Given the description of an element on the screen output the (x, y) to click on. 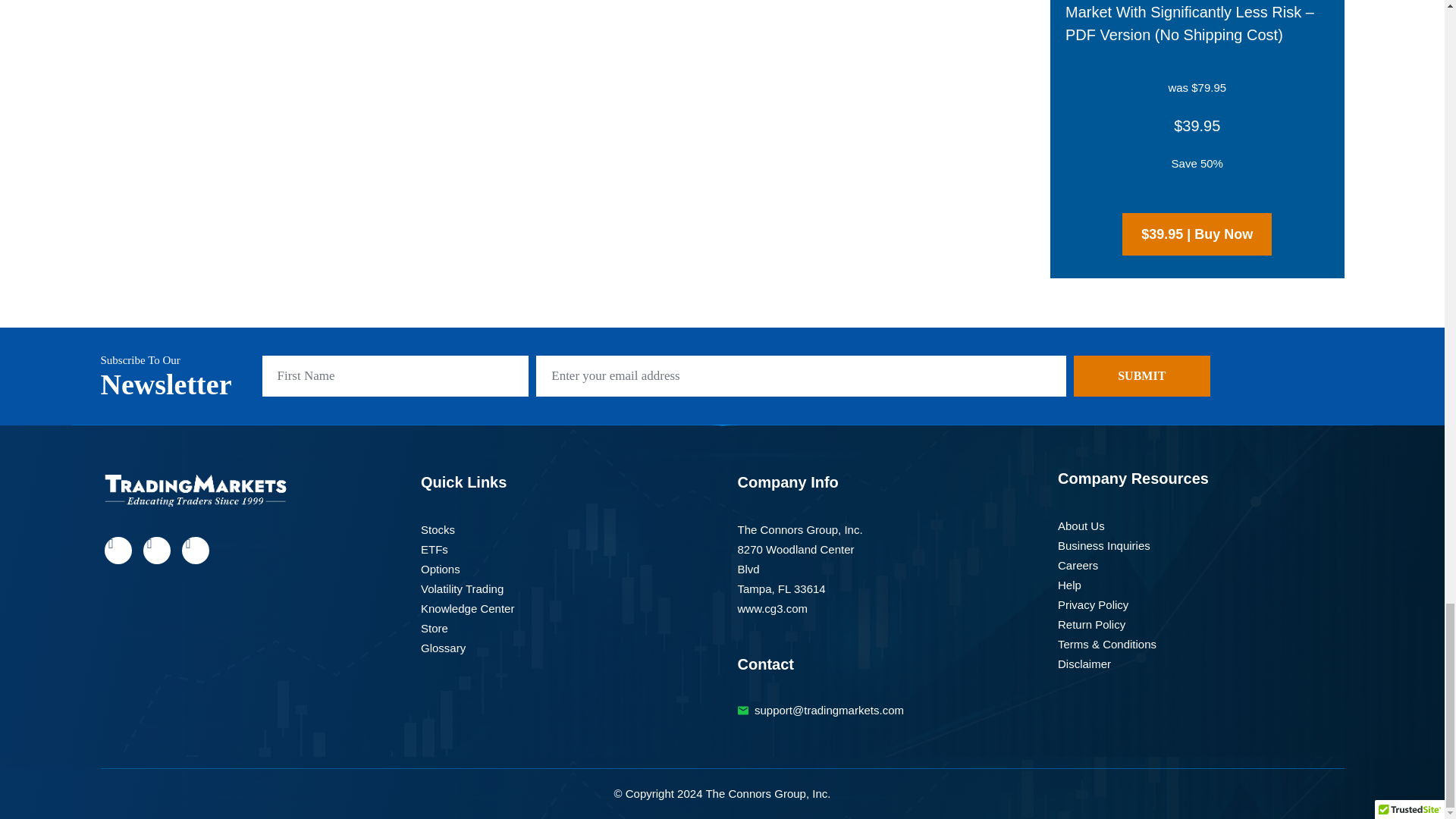
SUBMIT (1141, 375)
